Given the description of an element on the screen output the (x, y) to click on. 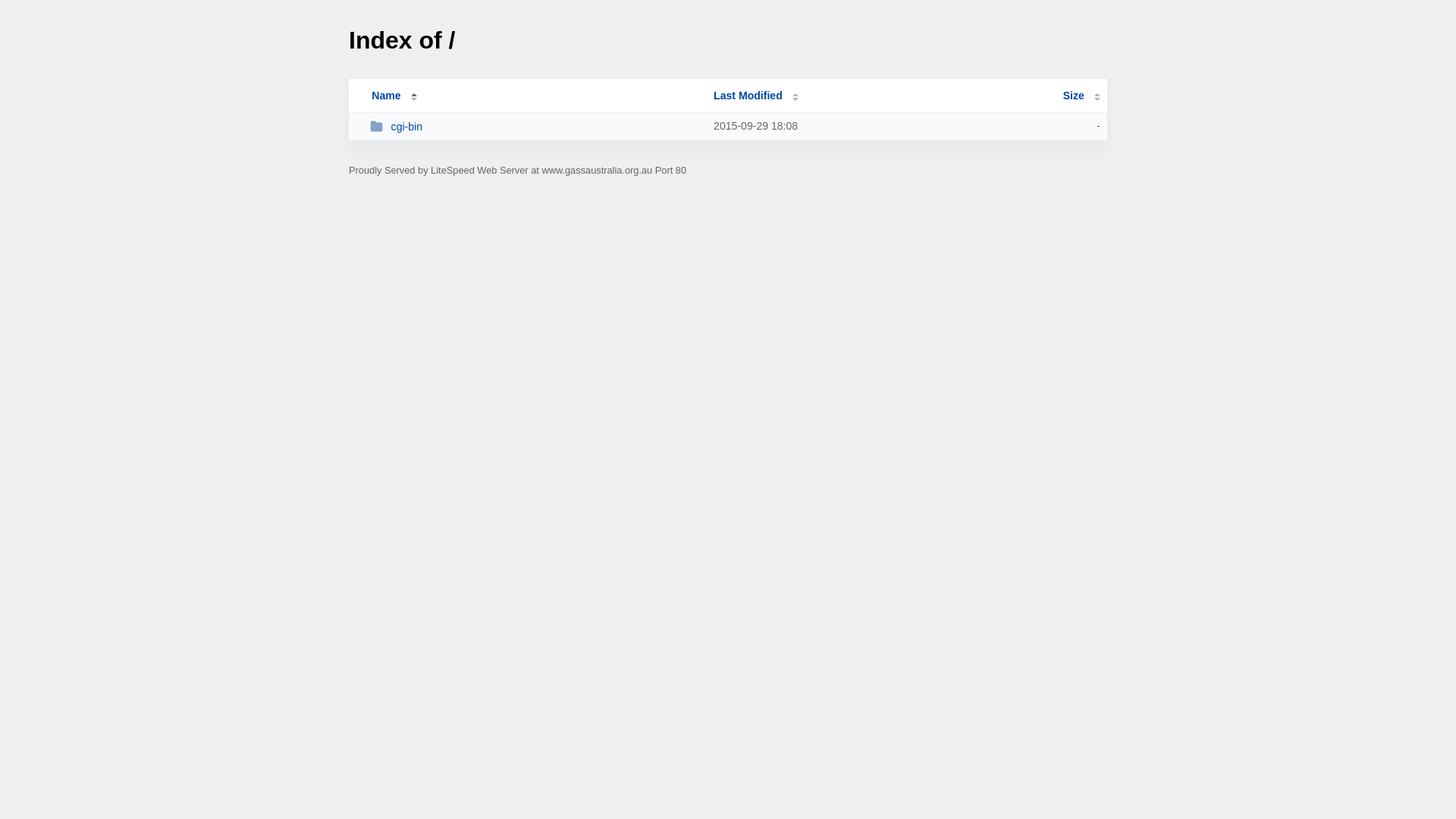
Name Element type: text (385, 95)
Size Element type: text (1081, 95)
cgi-bin Element type: text (534, 125)
Last Modified Element type: text (755, 95)
